Given the description of an element on the screen output the (x, y) to click on. 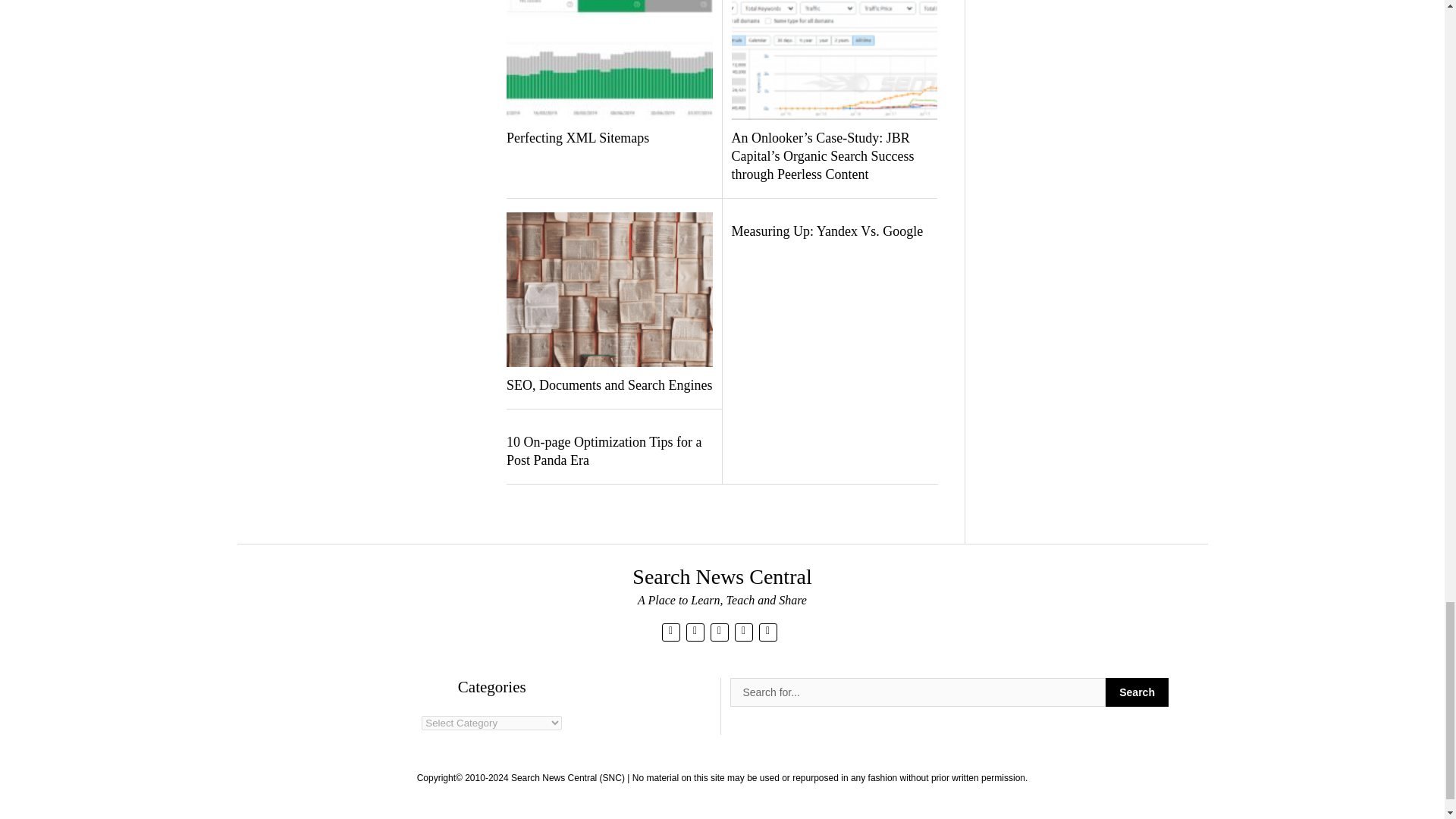
SEO, Documents and Search Engines (608, 385)
Search (1137, 692)
Search (1137, 692)
Measuring Up: Yandex Vs. Google (833, 231)
Search News Central (720, 576)
Perfecting XML Sitemaps (608, 138)
10 On-page Optimization Tips for a Post Panda Era (608, 452)
